Given the description of an element on the screen output the (x, y) to click on. 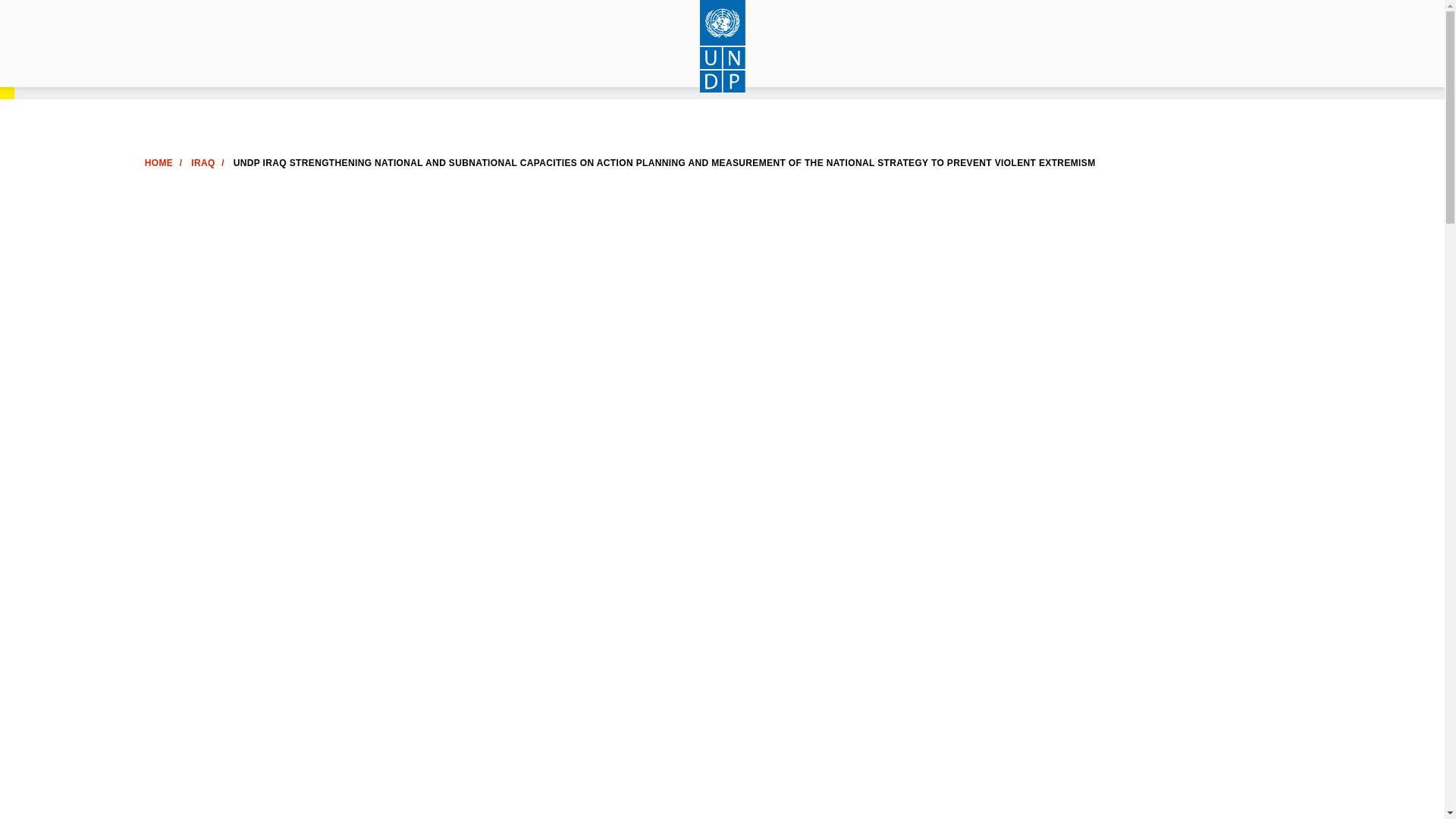
IRAQ (202, 163)
HOME (158, 163)
